Given the description of an element on the screen output the (x, y) to click on. 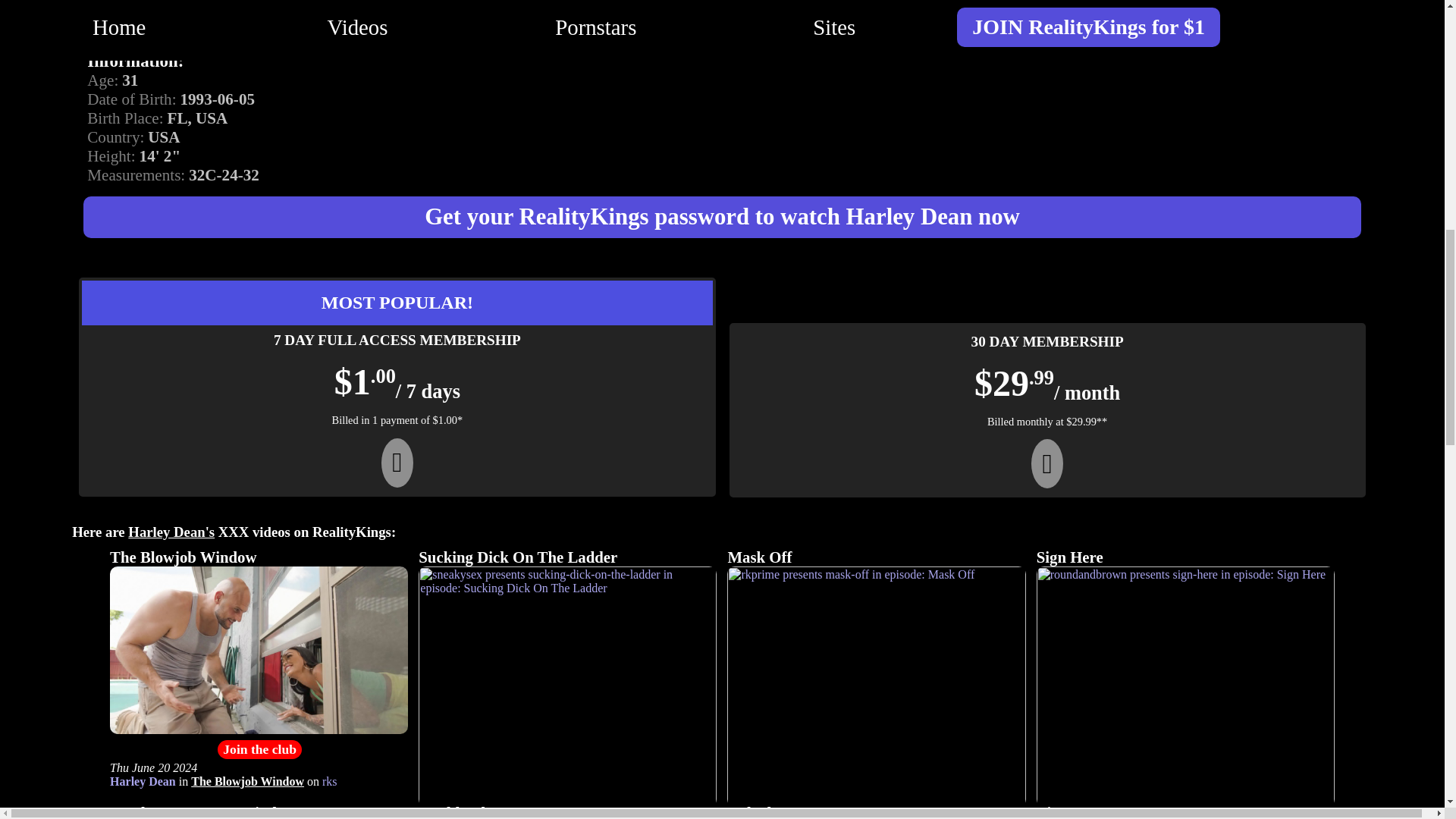
long legs (675, 25)
black (104, 25)
Sign Here (1069, 556)
Harley Dean (143, 780)
tattoos (419, 25)
brunette (181, 25)
Get your RealityKings password to watch Harley Dean now (721, 217)
The Blowjob Window (183, 556)
skinny (495, 25)
